Given the description of an element on the screen output the (x, y) to click on. 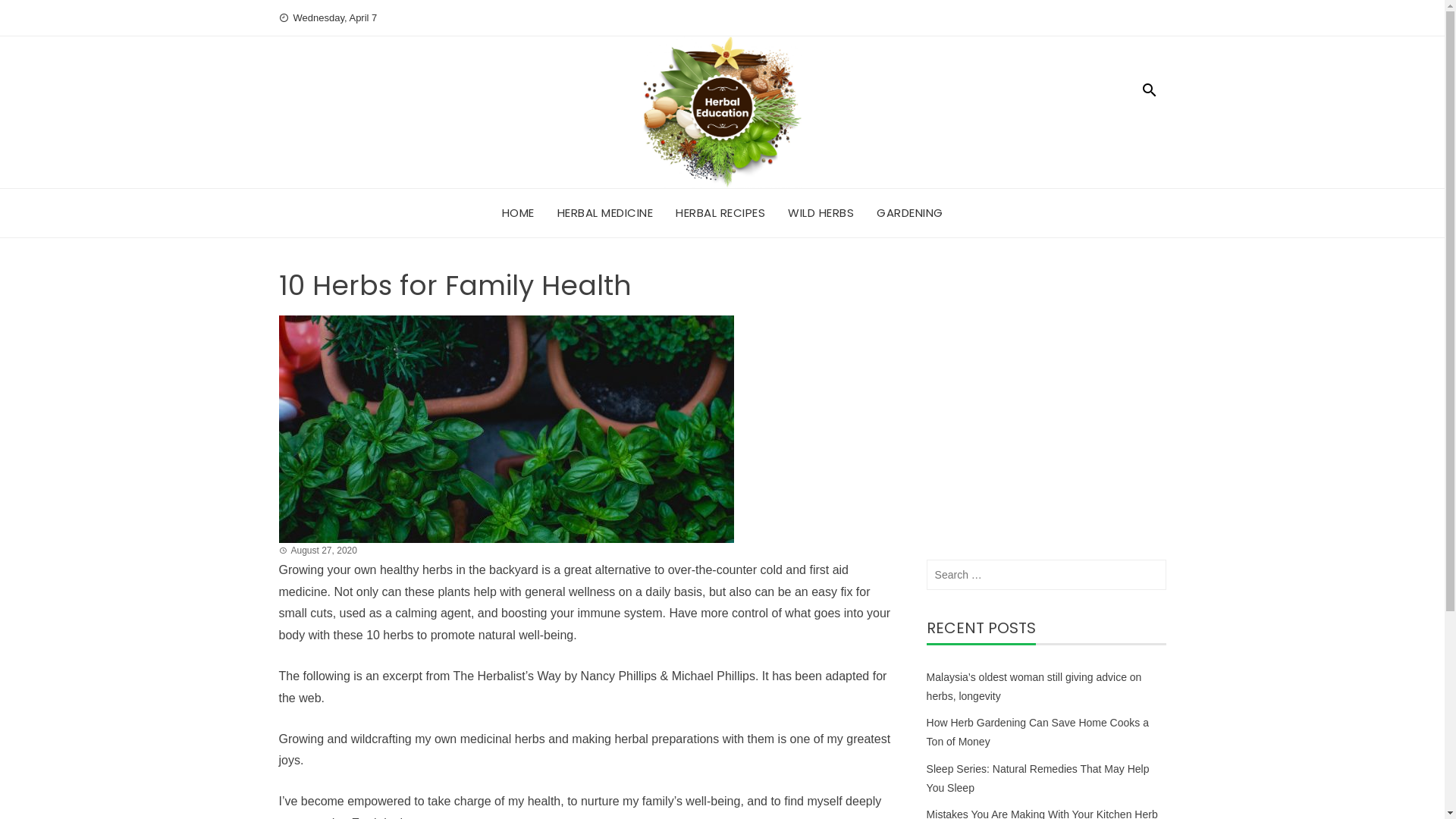
HERBAL RECIPES Element type: text (720, 212)
HERBAL MEDICINE Element type: text (604, 212)
WILD HERBS Element type: text (820, 212)
HOME Element type: text (518, 212)
Search Element type: text (31, 15)
GARDENING Element type: text (909, 212)
HERBAL EDUCATION Element type: text (908, 108)
Sleep Series: Natural Remedies That May Help You Sleep Element type: text (1037, 777)
How Herb Gardening Can Save Home Cooks a Ton of Money Element type: text (1037, 731)
